Given the description of an element on the screen output the (x, y) to click on. 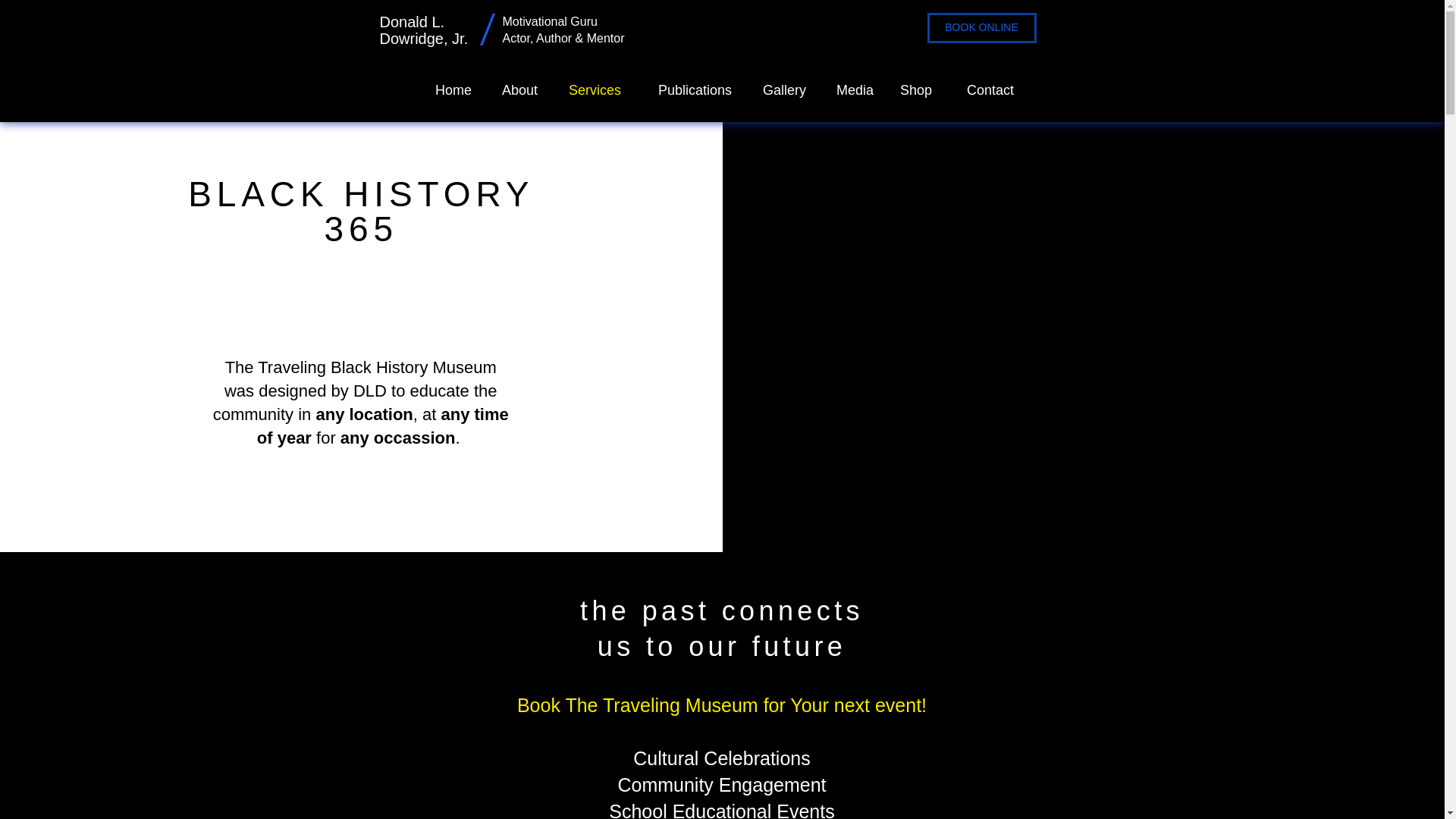
Gallery (779, 89)
Donald L. (411, 21)
Media (850, 89)
Publications (686, 89)
Shop (914, 89)
Services (589, 89)
BOOK ONLINE (980, 28)
Motivational Guru  (550, 21)
Home (450, 89)
About (515, 89)
